Given the description of an element on the screen output the (x, y) to click on. 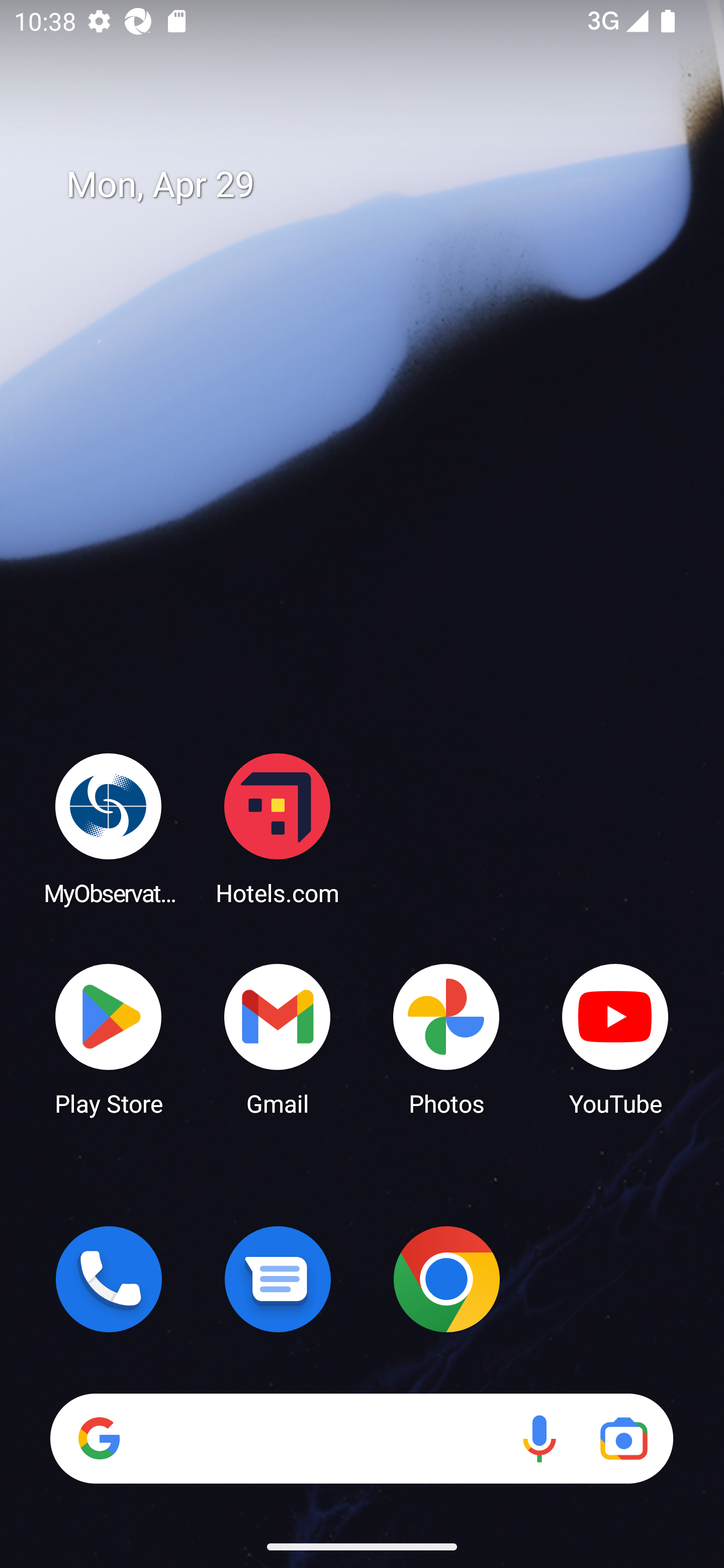
Mon, Apr 29 (375, 184)
MyObservatory (108, 828)
Hotels.com (277, 828)
Play Store (108, 1038)
Gmail (277, 1038)
Photos (445, 1038)
YouTube (615, 1038)
Phone (108, 1279)
Messages (277, 1279)
Chrome (446, 1279)
Search Voice search Google Lens (361, 1438)
Voice search (539, 1438)
Google Lens (623, 1438)
